Given the description of an element on the screen output the (x, y) to click on. 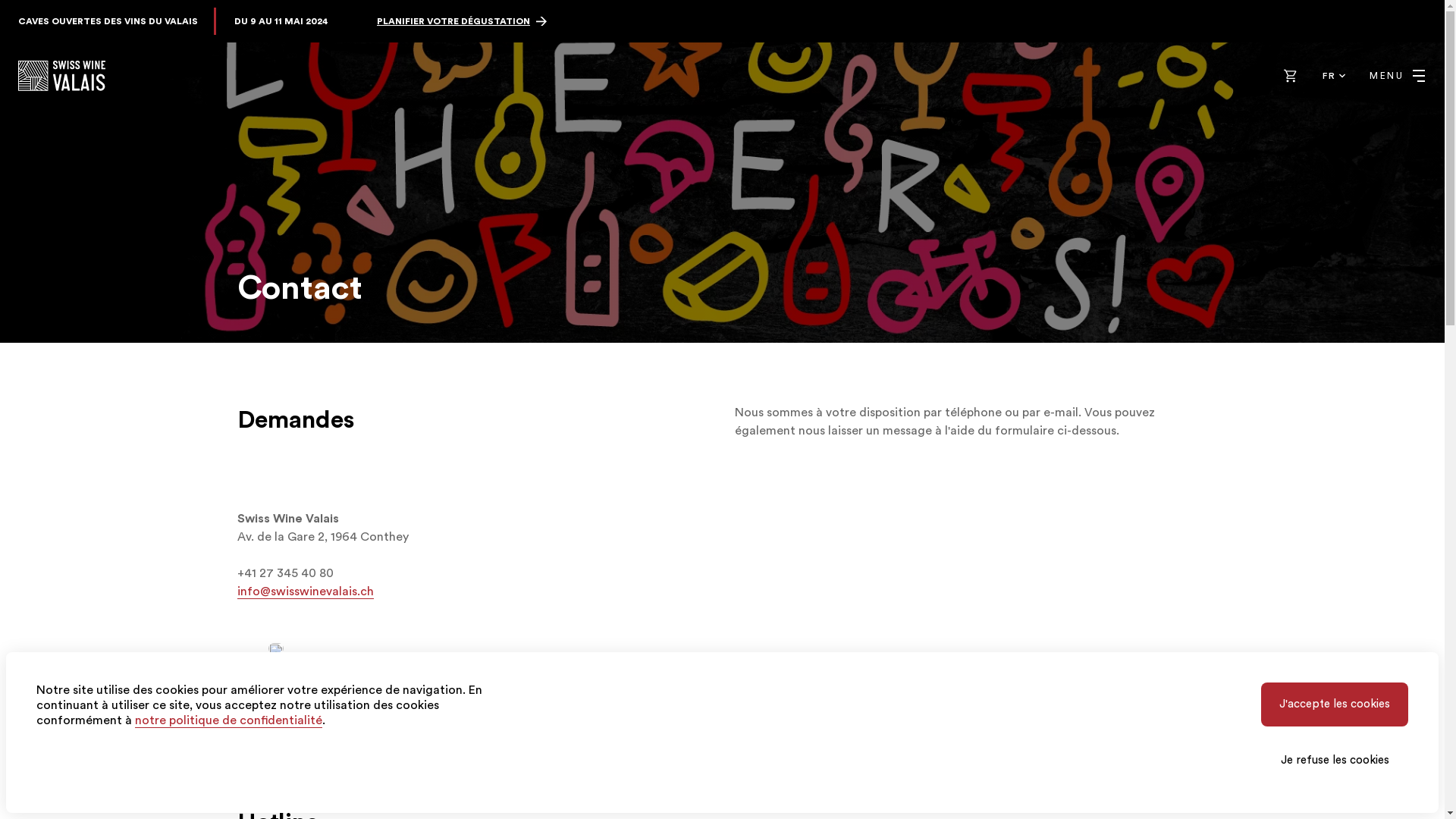
J'accepte les cookies Element type: text (1334, 704)
MENU Element type: text (1396, 75)
Je refuse les cookies Element type: text (1334, 760)
info@swisswinevalais.ch Element type: text (304, 591)
